Given the description of an element on the screen output the (x, y) to click on. 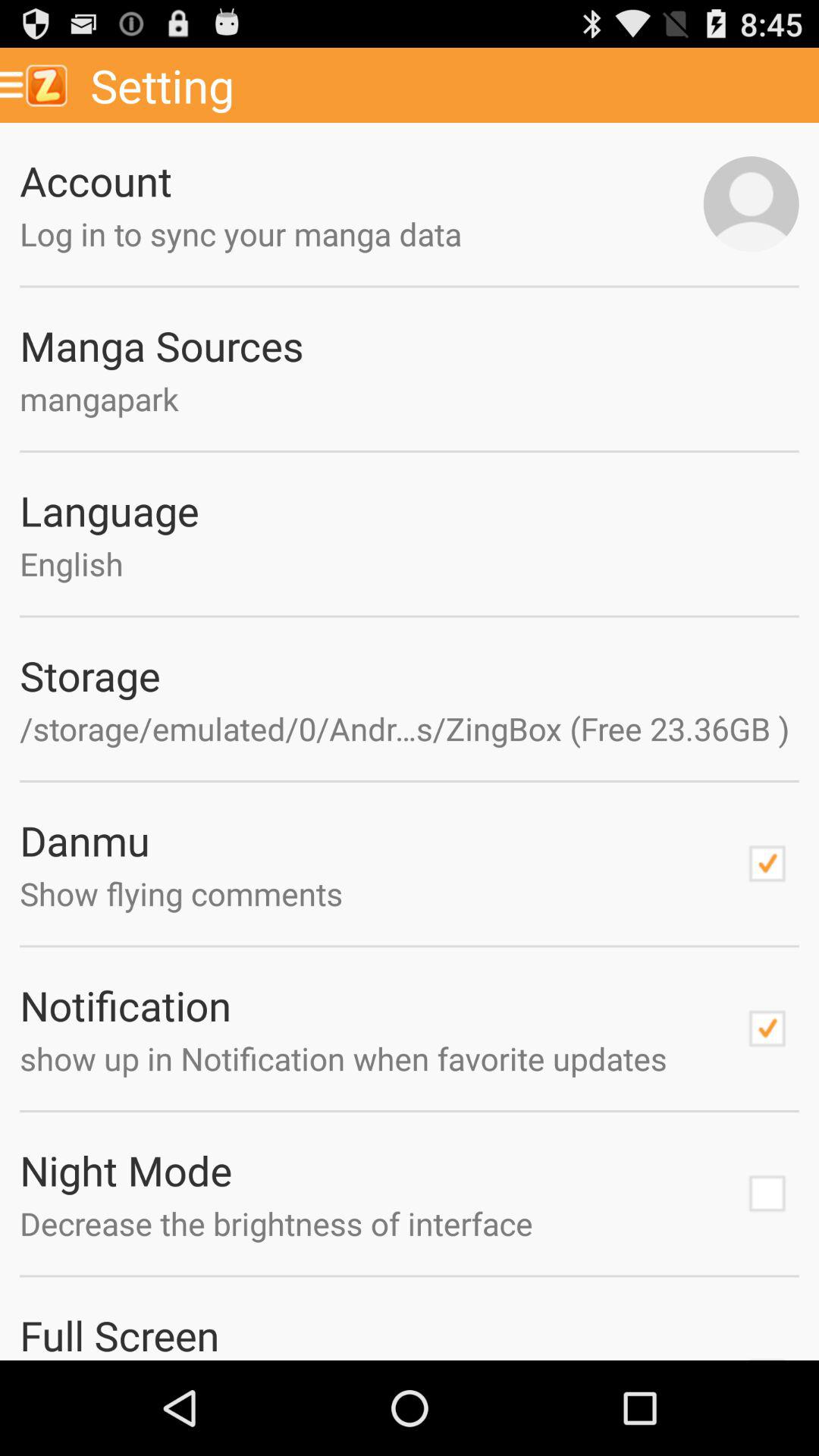
toggle night mode option (767, 1193)
